Given the description of an element on the screen output the (x, y) to click on. 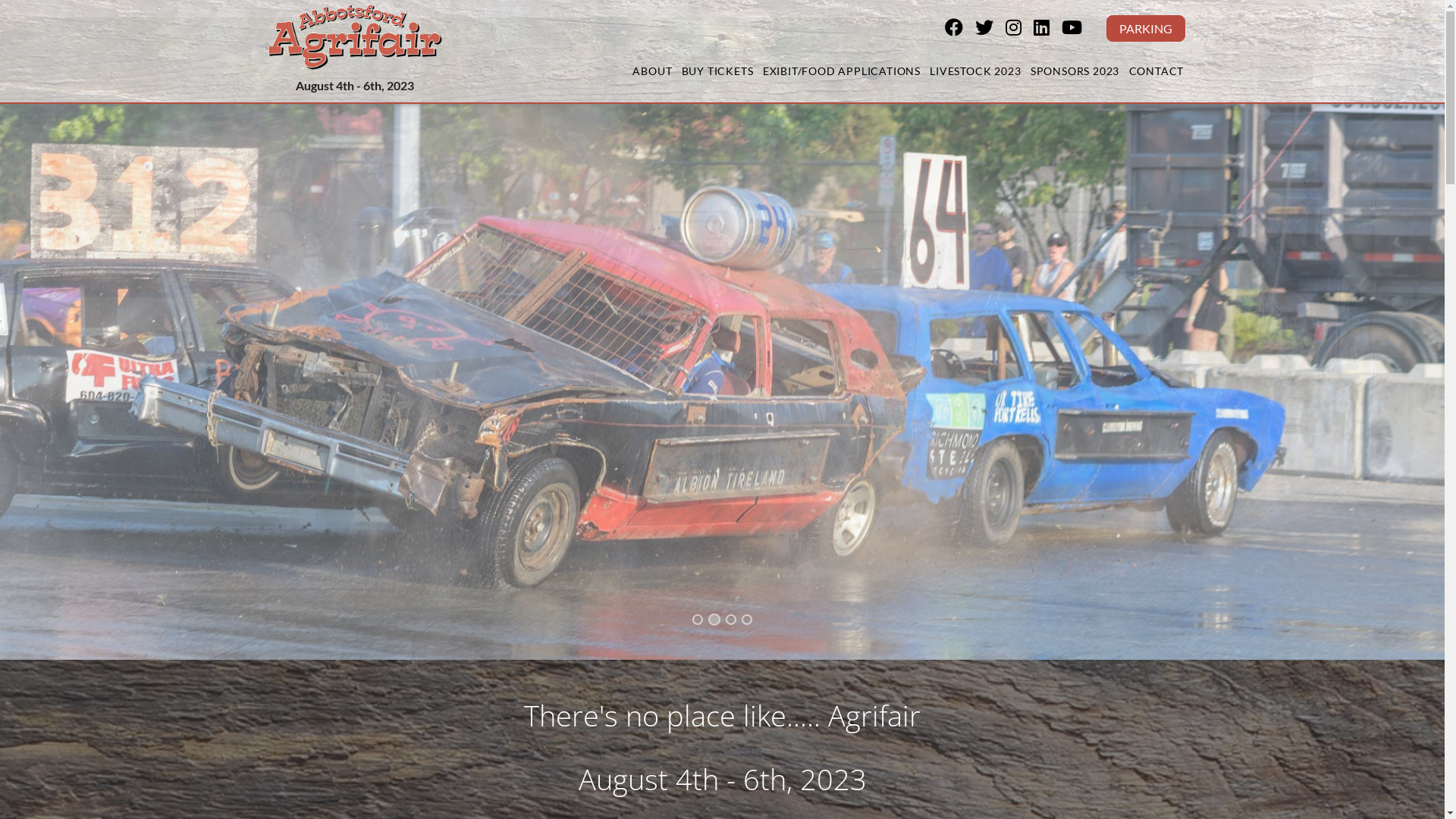
Abbotsford Agrifair @ Instagram Element type: hover (1019, 28)
SPONSORS 2023 Element type: text (1074, 71)
Abbotsford Agrifair @ Twitter Element type: hover (990, 28)
Abbotsford Agrifair @ Linkedin Element type: hover (1046, 28)
EXIBIT/FOOD APPLICATIONS Element type: text (841, 71)
Abbotsford Agrifair @ Youtube Element type: hover (1077, 28)
PARKING Element type: text (1144, 28)
Abbotsford Agrifair @ Facebook Element type: hover (959, 28)
LIVESTOCK 2023 Element type: text (975, 71)
Abbotsford Agrifair - Home Element type: hover (353, 36)
ABOUT Element type: text (652, 71)
CONTACT Element type: text (1155, 71)
BUY TICKETS Element type: text (717, 71)
